Given the description of an element on the screen output the (x, y) to click on. 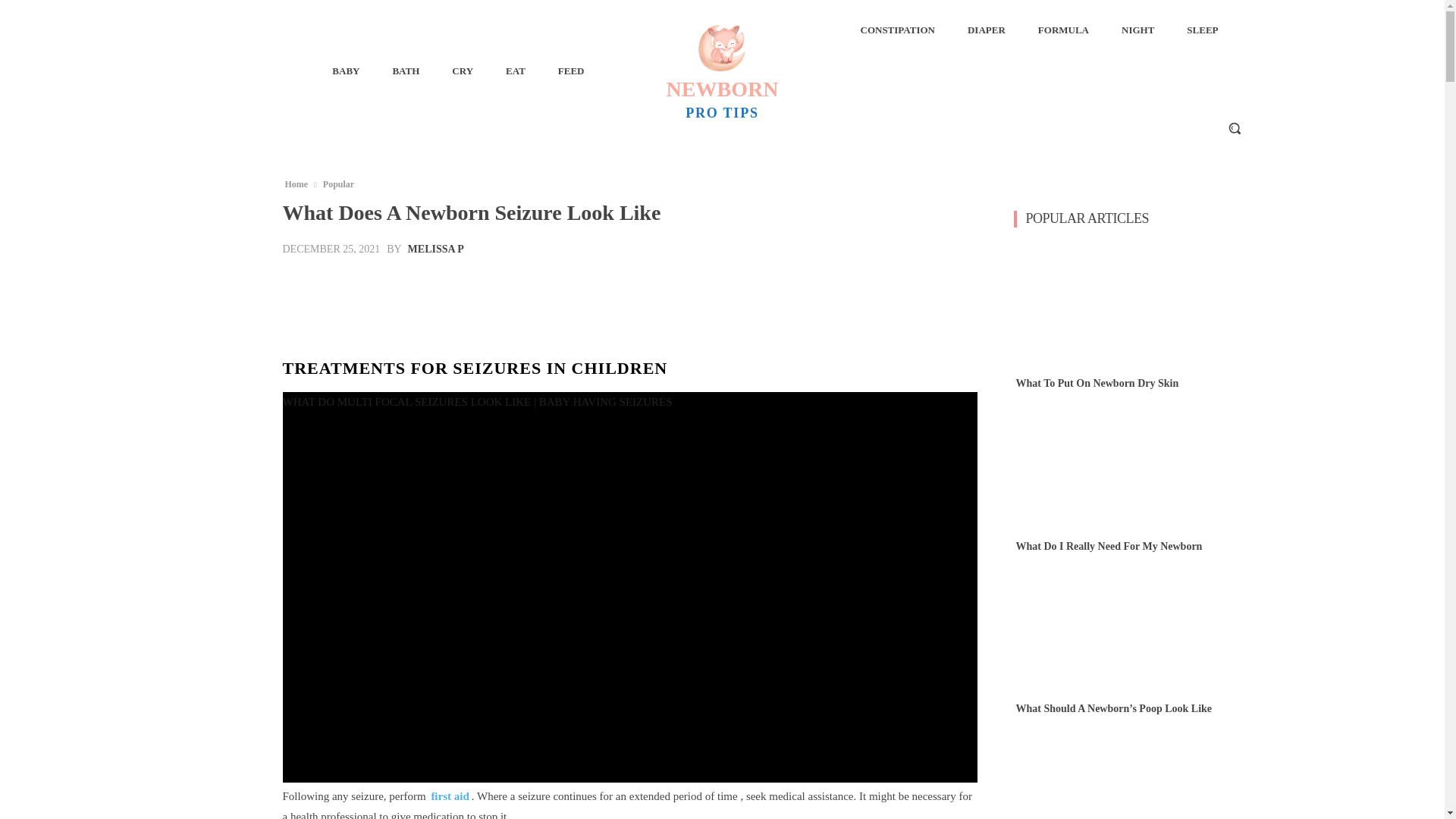
CONSTIPATION (721, 70)
FORMULA (896, 30)
MELISSA P (1063, 30)
Popular (435, 249)
View all posts in Popular (338, 184)
DIAPER (338, 184)
Home (986, 30)
